Given the description of an element on the screen output the (x, y) to click on. 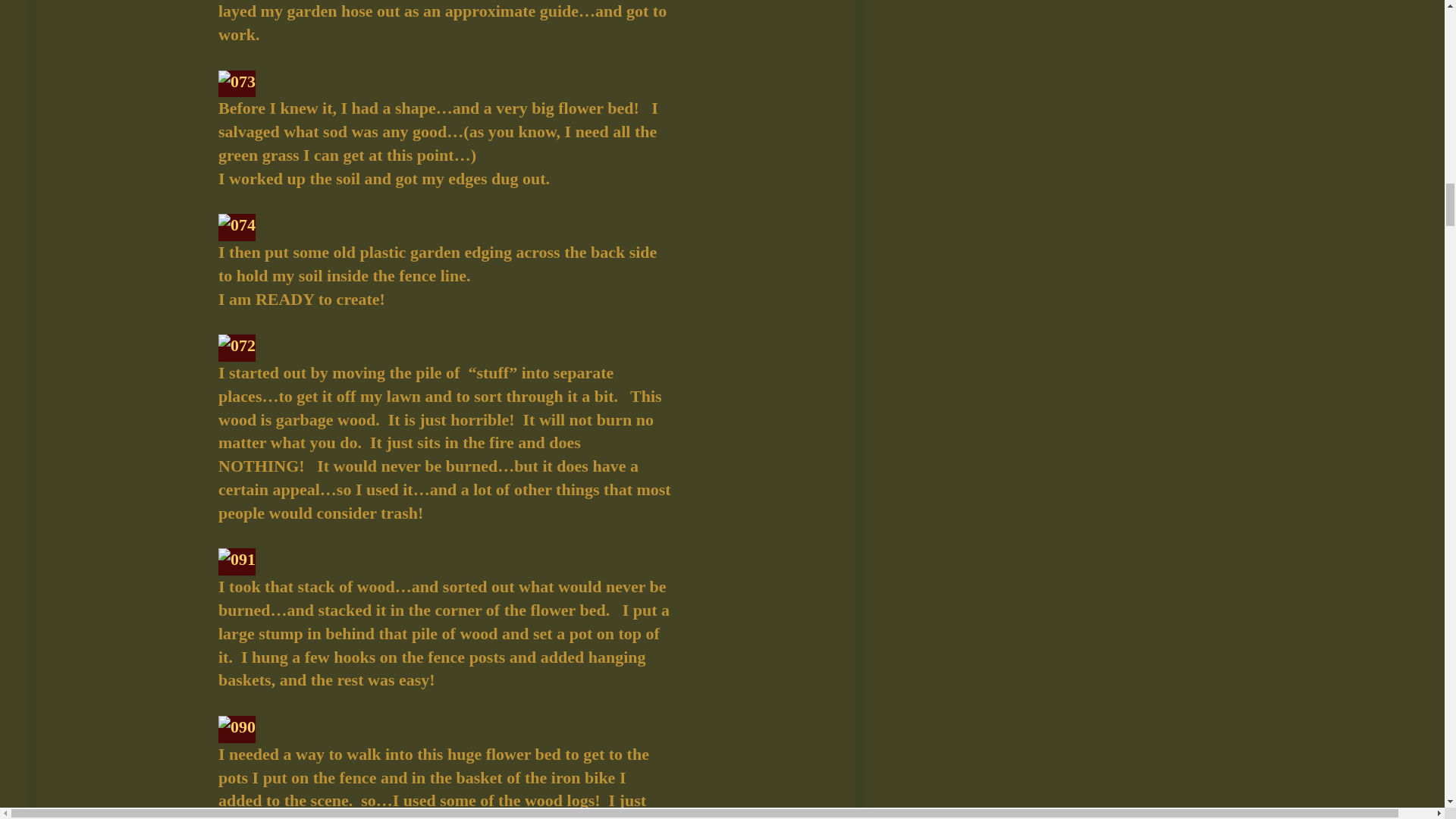
072 (237, 347)
074 (237, 226)
090 (237, 728)
073 (237, 83)
091 (237, 561)
